Given the description of an element on the screen output the (x, y) to click on. 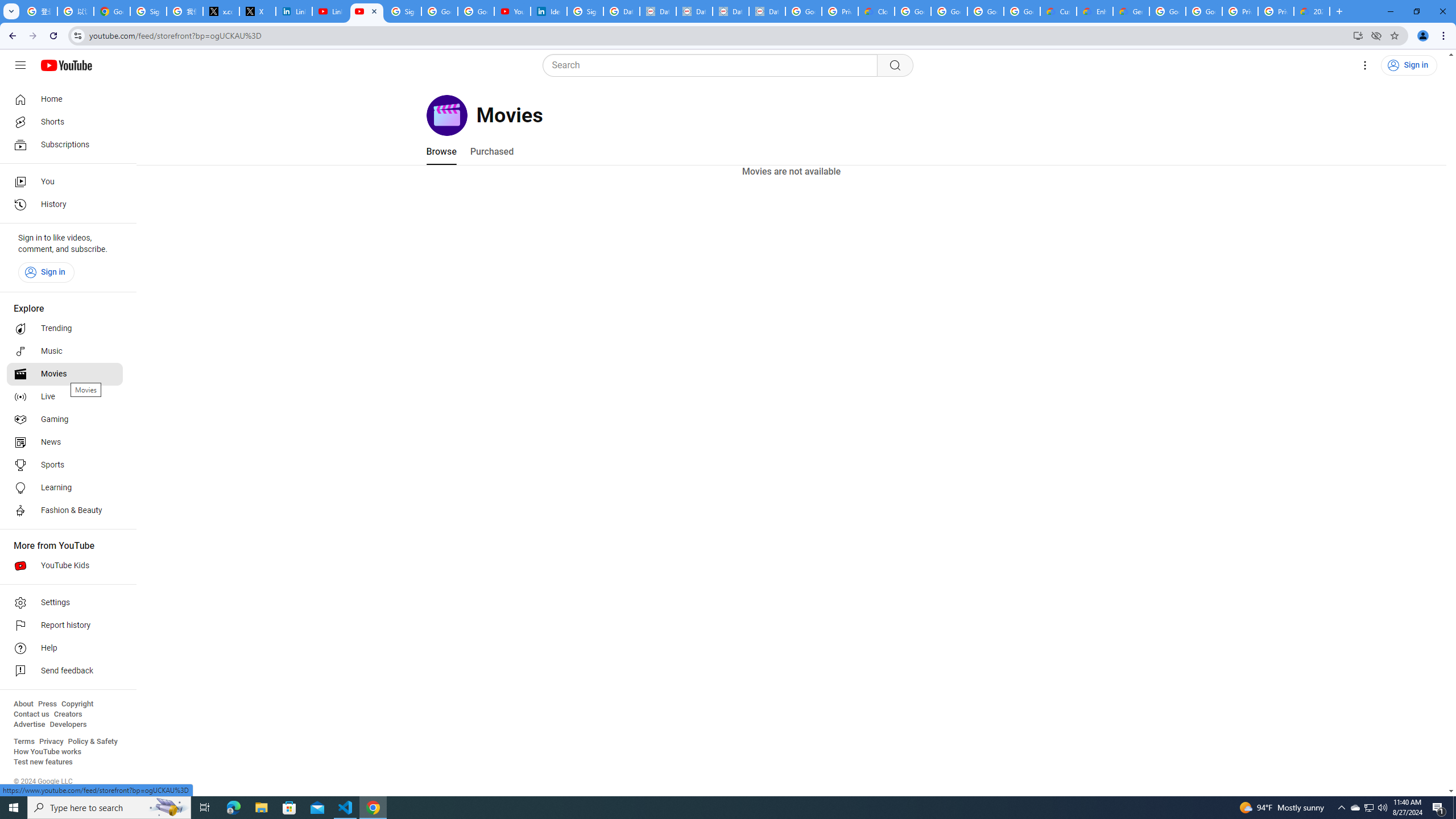
YouTube Kids (64, 565)
